Given the description of an element on the screen output the (x, y) to click on. 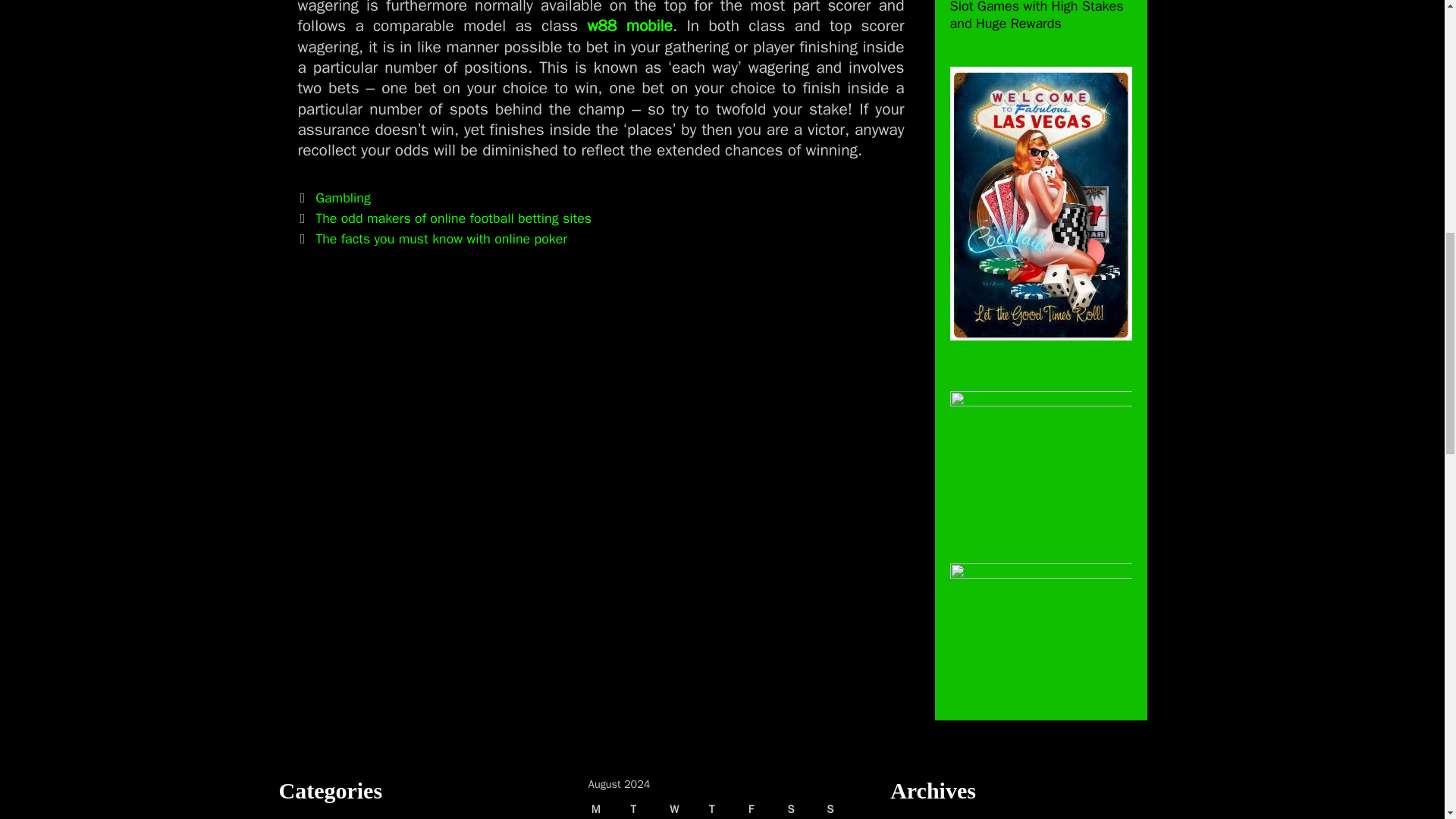
Thursday (722, 807)
Next (432, 238)
Previous (444, 217)
Wednesday (683, 807)
Monday (604, 807)
Gambling (343, 197)
The facts you must know with online poker (441, 238)
Tuesday (643, 807)
w88 mobile (628, 25)
The odd makers of online football betting sites (453, 217)
